Given the description of an element on the screen output the (x, y) to click on. 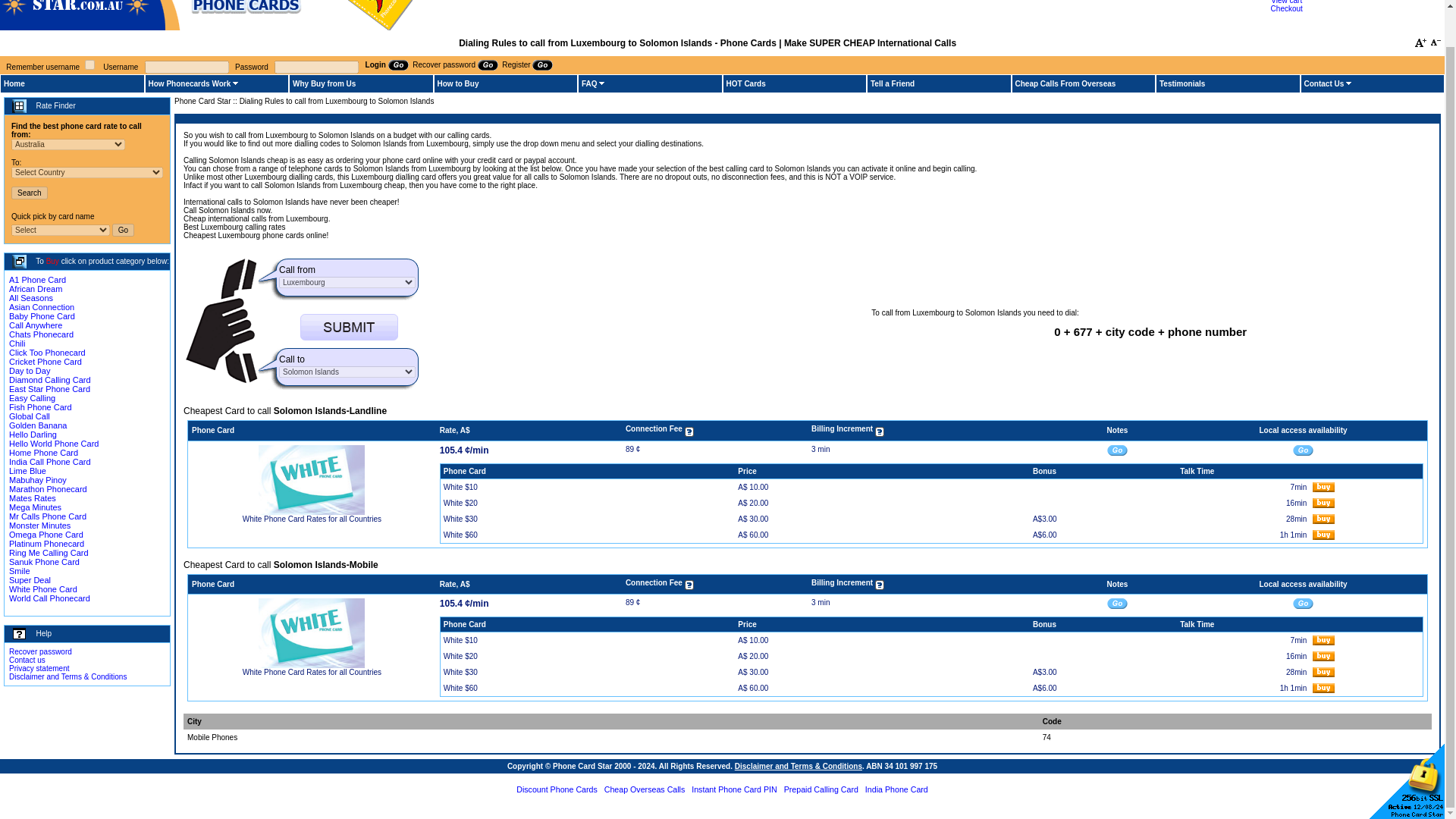
Search (29, 192)
How Phonecards Work (189, 83)
Home (14, 83)
Tell a Friend (892, 83)
Home (14, 83)
A1 Phone Card (36, 279)
Diamond Calling Card (49, 379)
FAQ (588, 83)
Testimonials (1181, 83)
Baby Phone Card (41, 316)
